Given the description of an element on the screen output the (x, y) to click on. 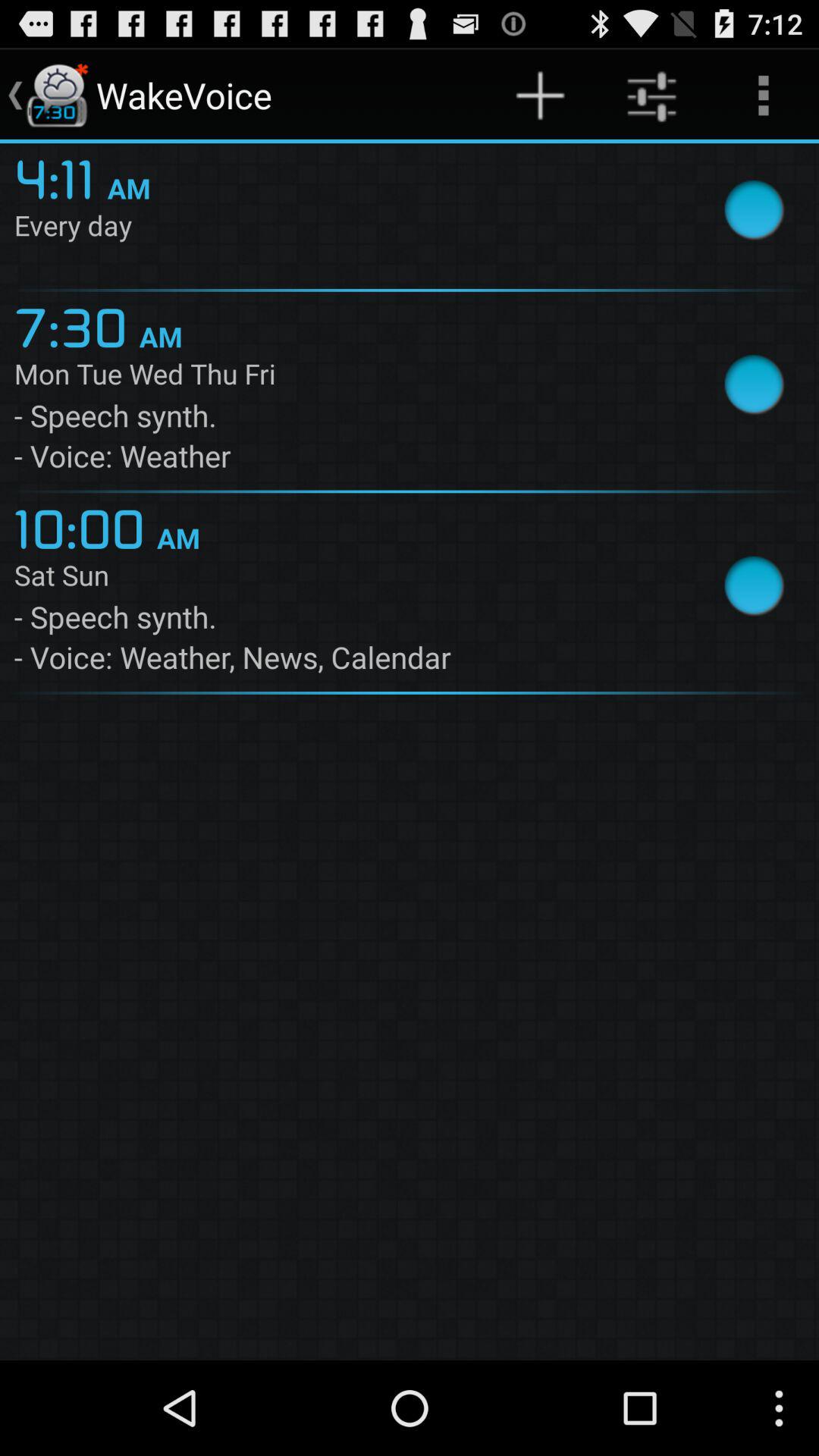
press the app above the mon tue wed icon (76, 324)
